Given the description of an element on the screen output the (x, y) to click on. 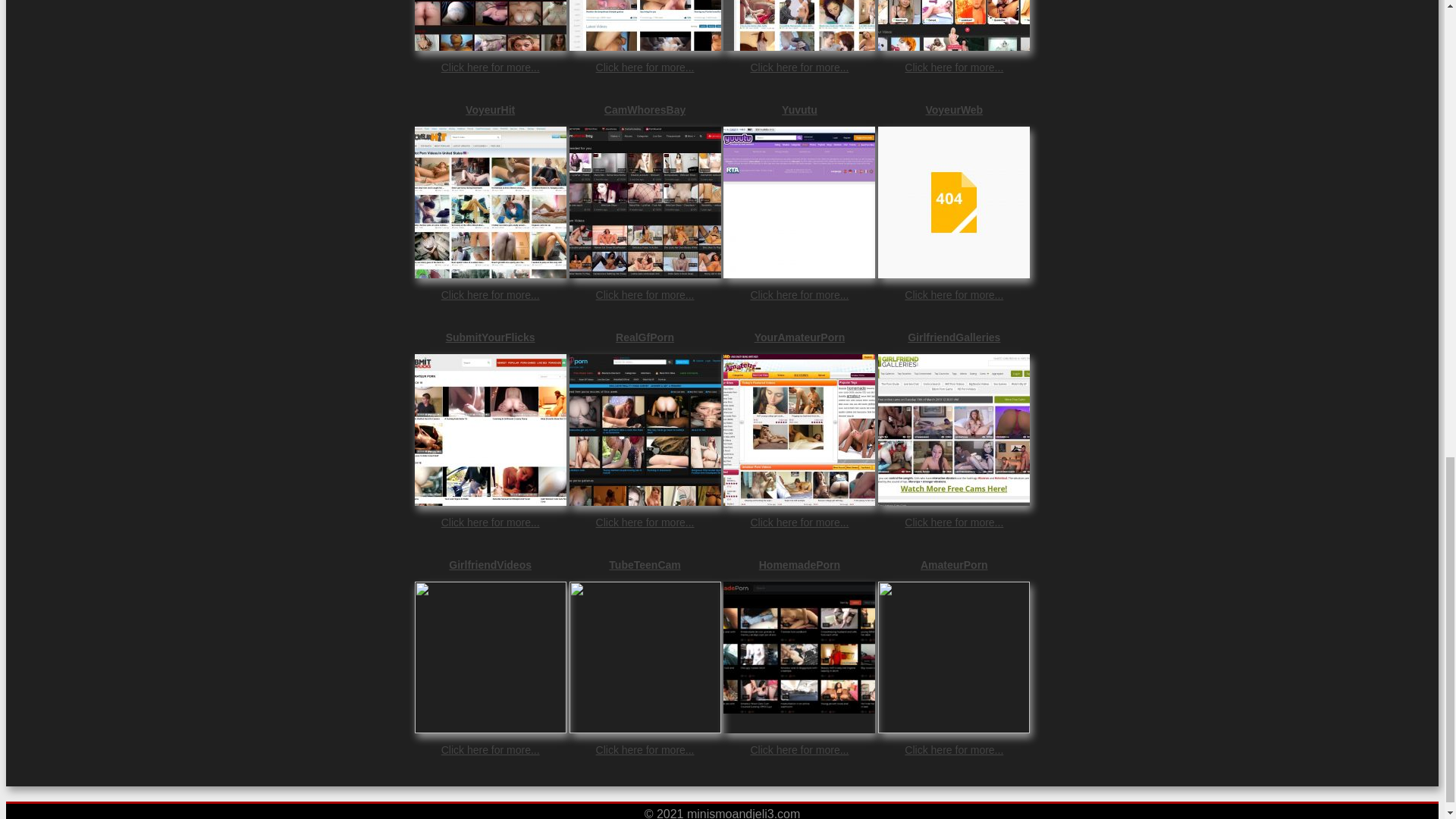
Click here for more... (953, 67)
VoyeurHit (490, 110)
YourAmateurPorn (799, 337)
Click here for more... (953, 295)
Click here for more... (798, 522)
GirlfriendGalleries (953, 337)
SubmitYourFlicks (490, 337)
Click here for more... (490, 67)
Yuvutu (799, 110)
Click here for more... (644, 522)
Click here for more... (644, 67)
Click here for more... (798, 295)
Click here for more... (490, 522)
Click here for more... (798, 67)
VoyeurWeb (953, 110)
